Given the description of an element on the screen output the (x, y) to click on. 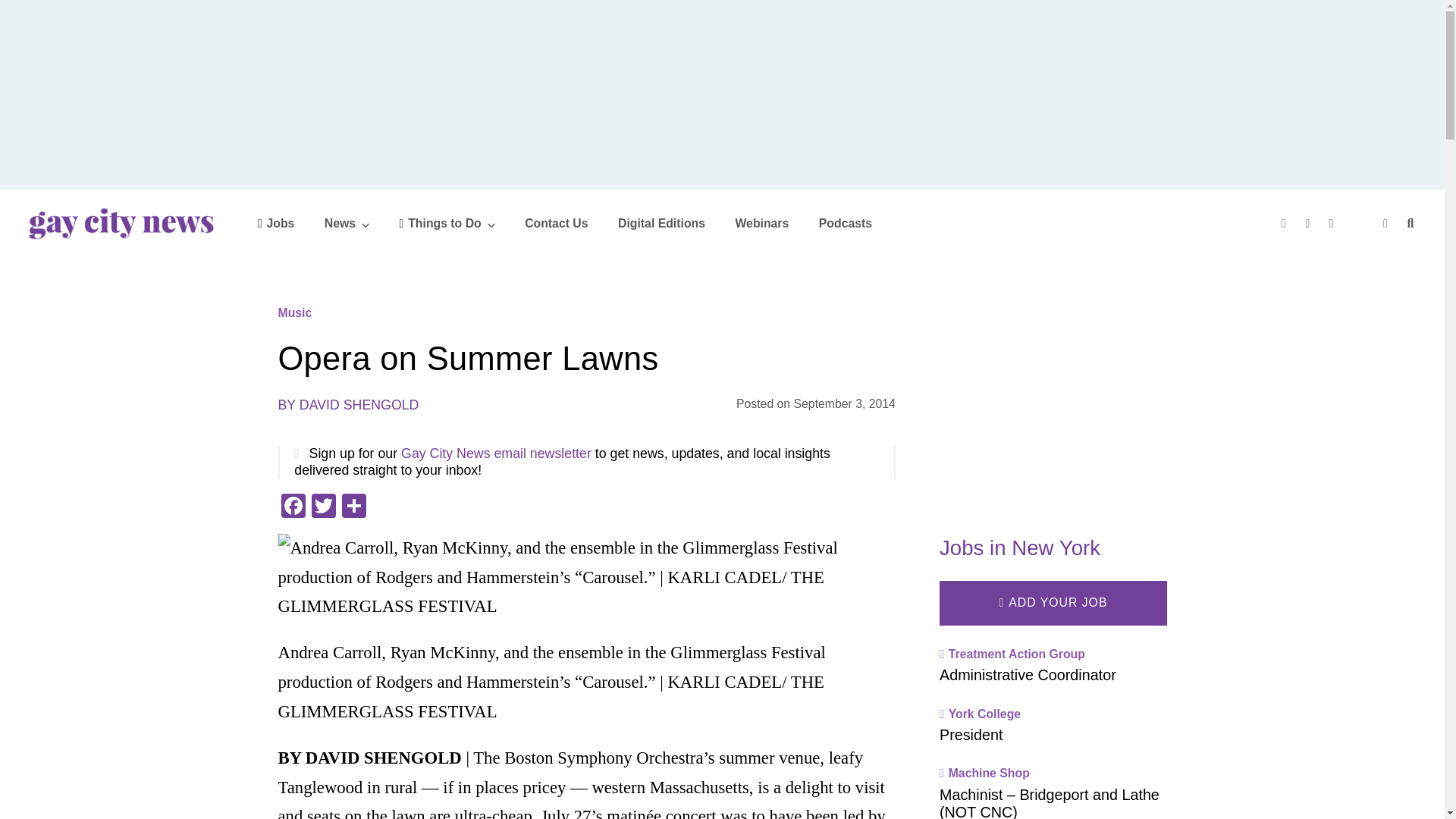
Podcasts (845, 223)
Contact Us (556, 223)
Digital Editions (660, 223)
Twitter (322, 507)
News (346, 223)
Jobs (276, 223)
Webinars (762, 223)
Things to Do (446, 223)
Facebook (292, 507)
